Given the description of an element on the screen output the (x, y) to click on. 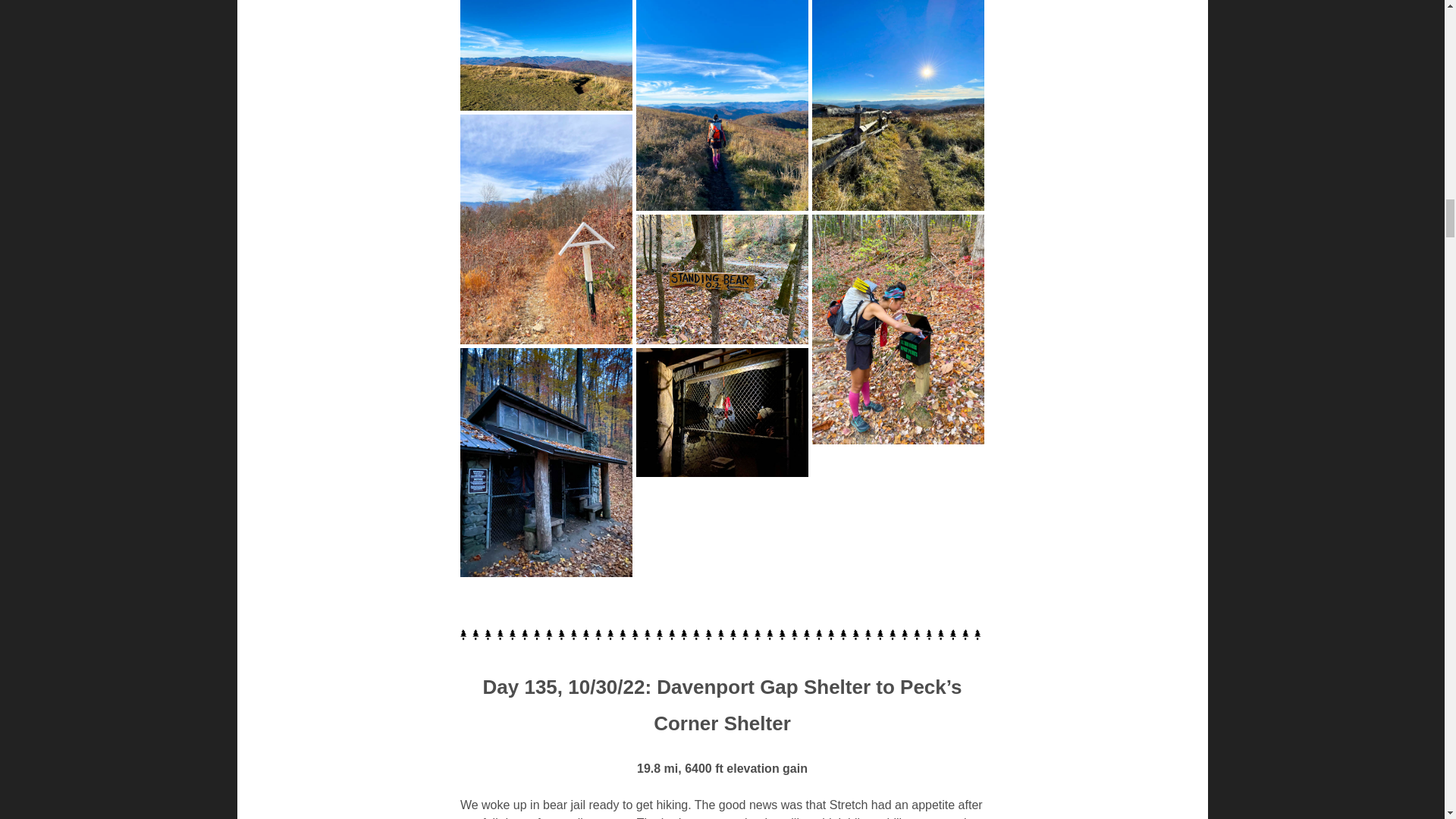
AT Post TN-NC Part 2-08 (722, 278)
AT Post TN-NC Part 2-11 (722, 412)
AT Post TN-NC Part 2-04 (545, 55)
